Given the description of an element on the screen output the (x, y) to click on. 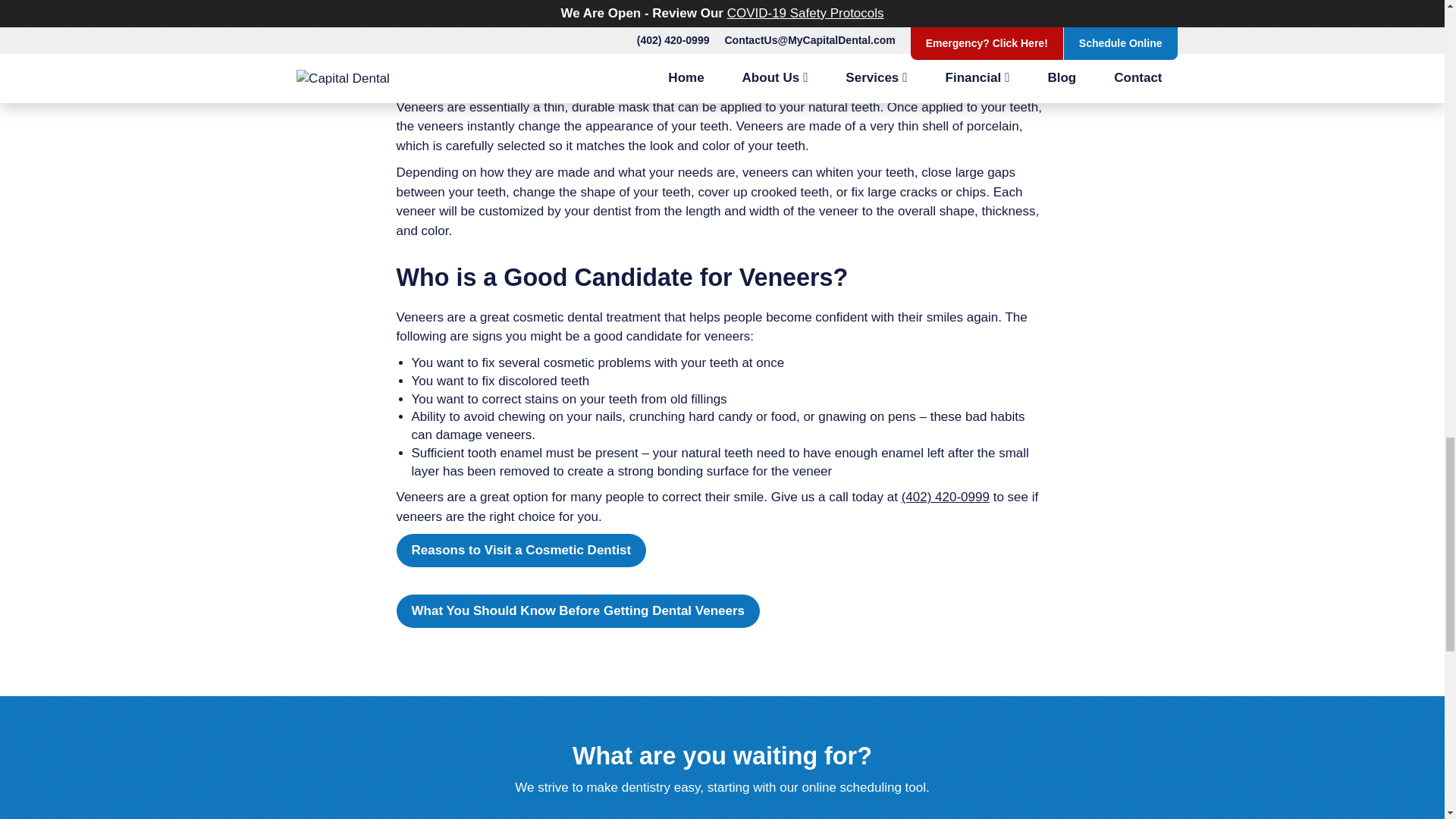
What You Should Know Before Getting Dental Veneers (578, 611)
Reasons to Visit a Cosmetic Dentist (521, 550)
